Given the description of an element on the screen output the (x, y) to click on. 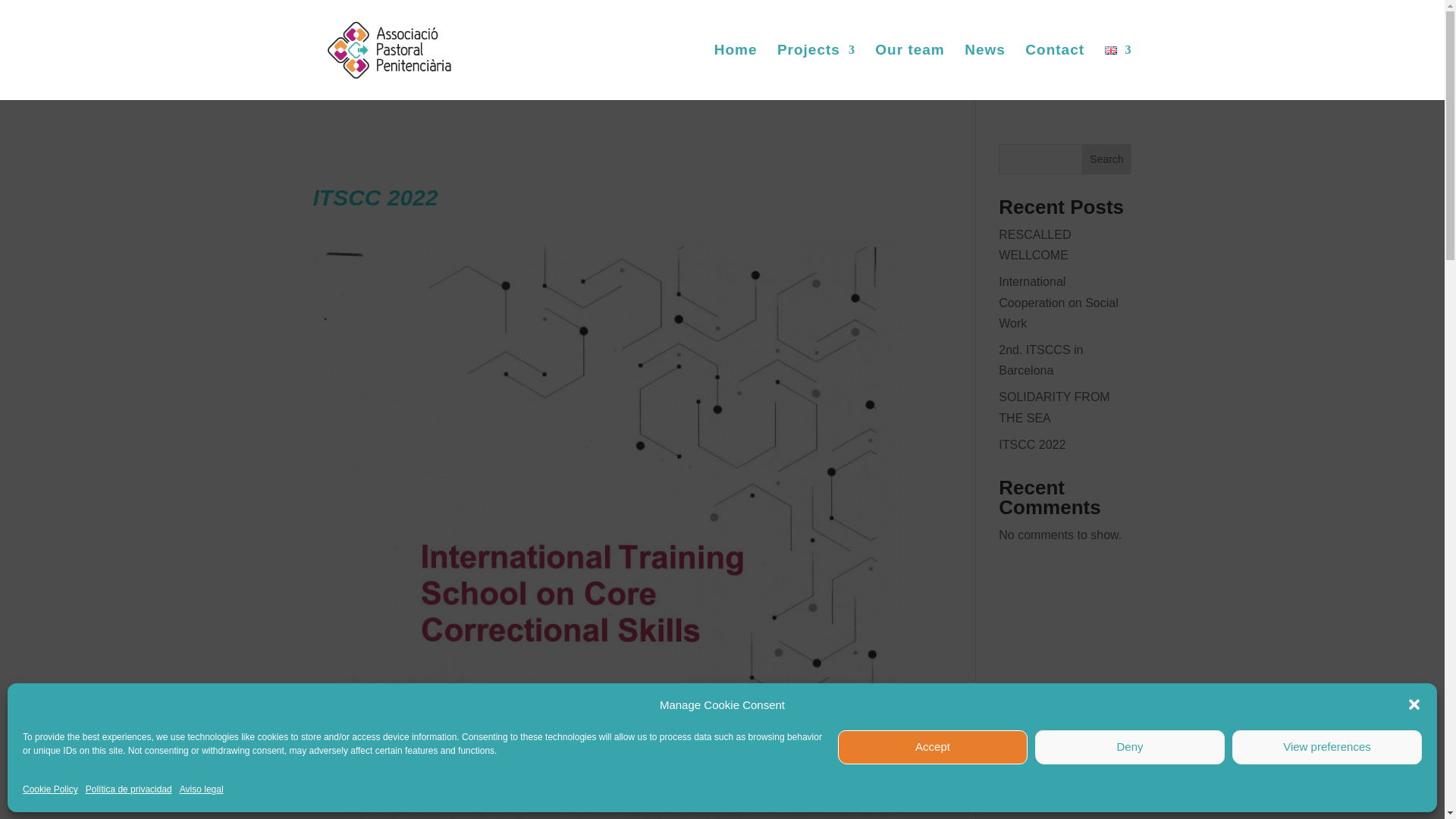
Our team (909, 72)
Projects (816, 72)
Contact (1054, 72)
